Given the description of an element on the screen output the (x, y) to click on. 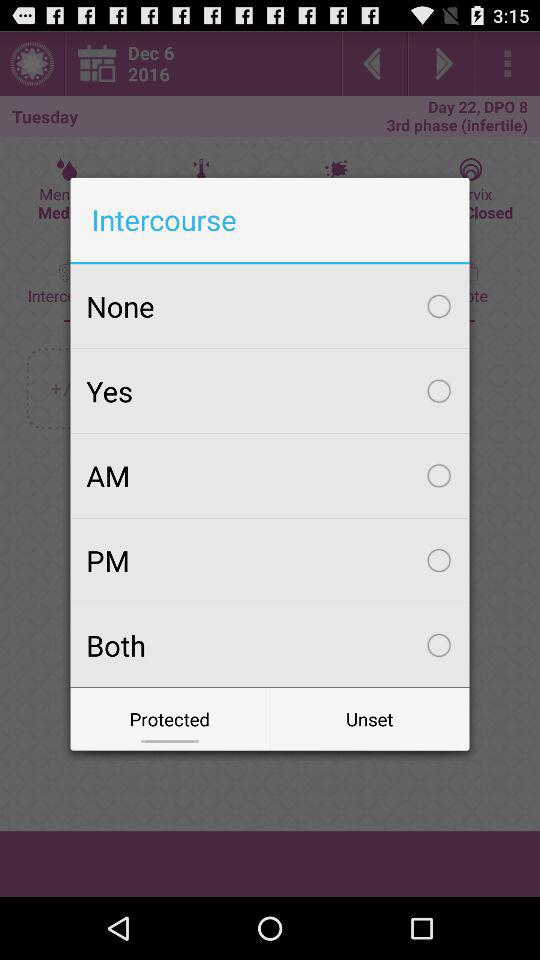
press the am (269, 475)
